Given the description of an element on the screen output the (x, y) to click on. 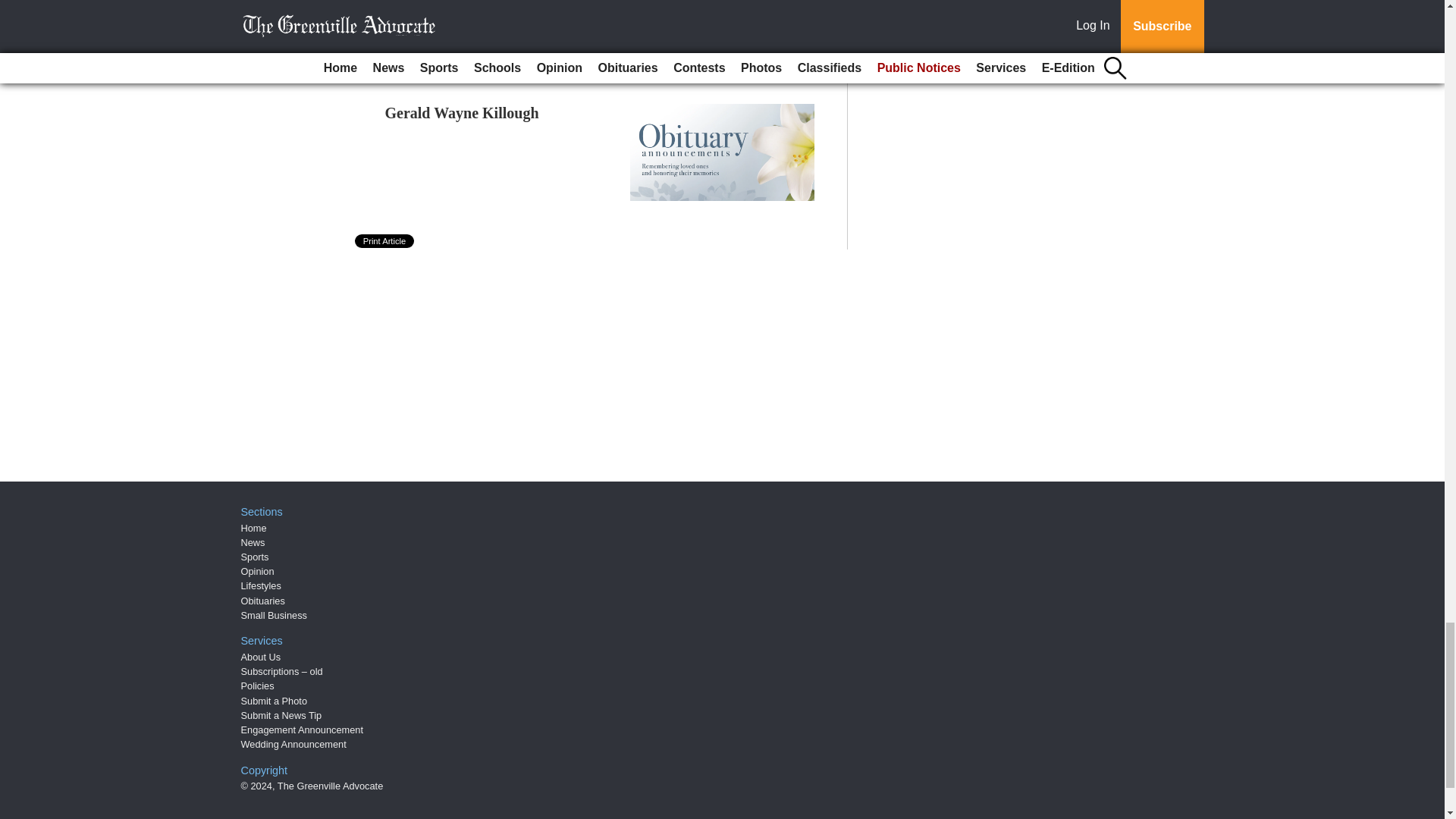
Home (253, 527)
News (252, 542)
Print Article (384, 241)
Gerald Wayne Killough (461, 112)
Gerald Wayne Killough (461, 112)
